Given the description of an element on the screen output the (x, y) to click on. 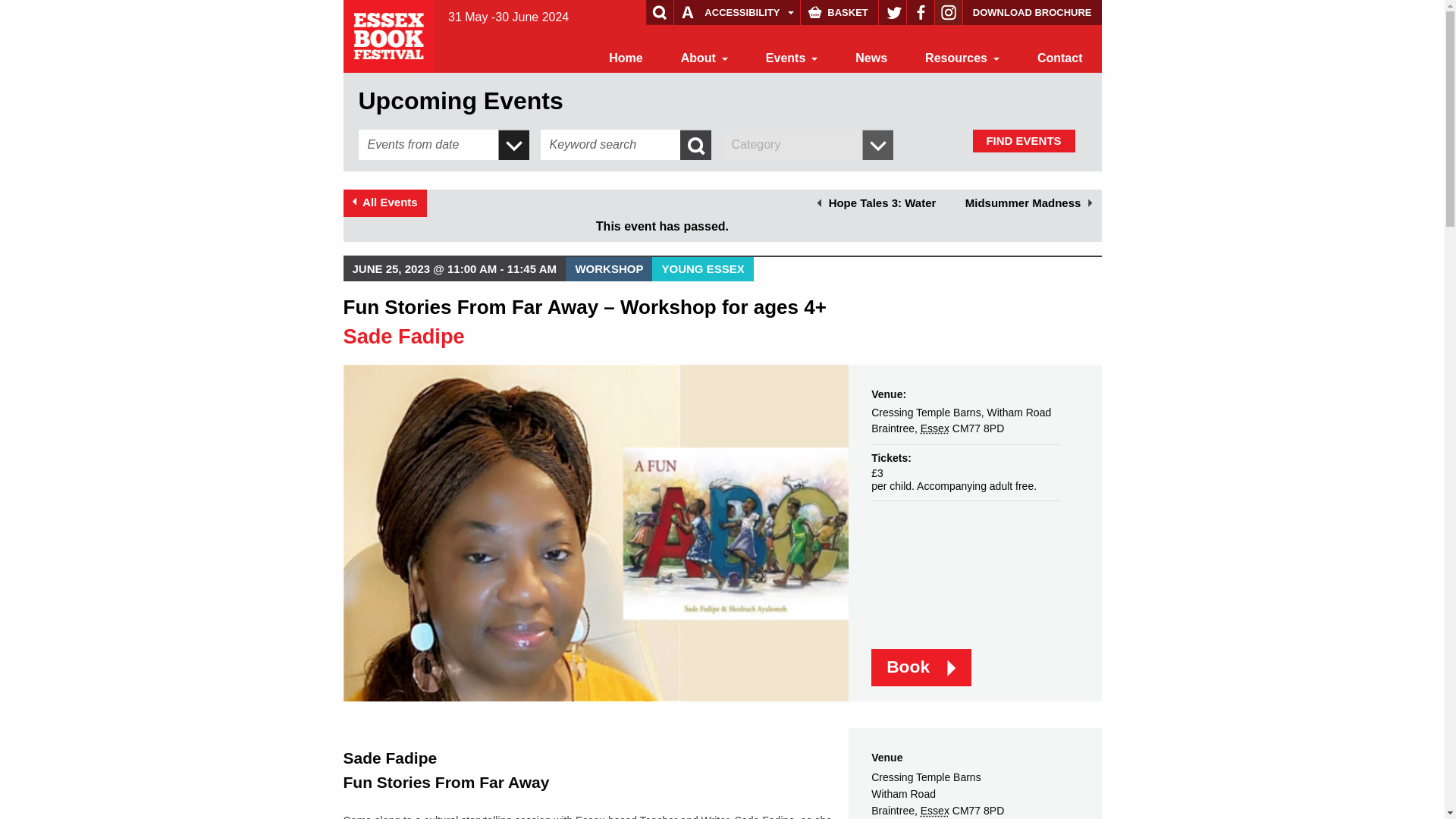
Search site (41, 13)
About us (704, 58)
Contact (1059, 58)
Events (790, 58)
Twitter (892, 12)
Instagram (948, 12)
News (870, 58)
Hope Tales 3: Water (876, 203)
Facebook (920, 12)
BASKET (838, 12)
Resources (961, 58)
Shopping basket (838, 12)
About (704, 58)
Find Events (1023, 140)
Essex Book Festival (389, 34)
